Given the description of an element on the screen output the (x, y) to click on. 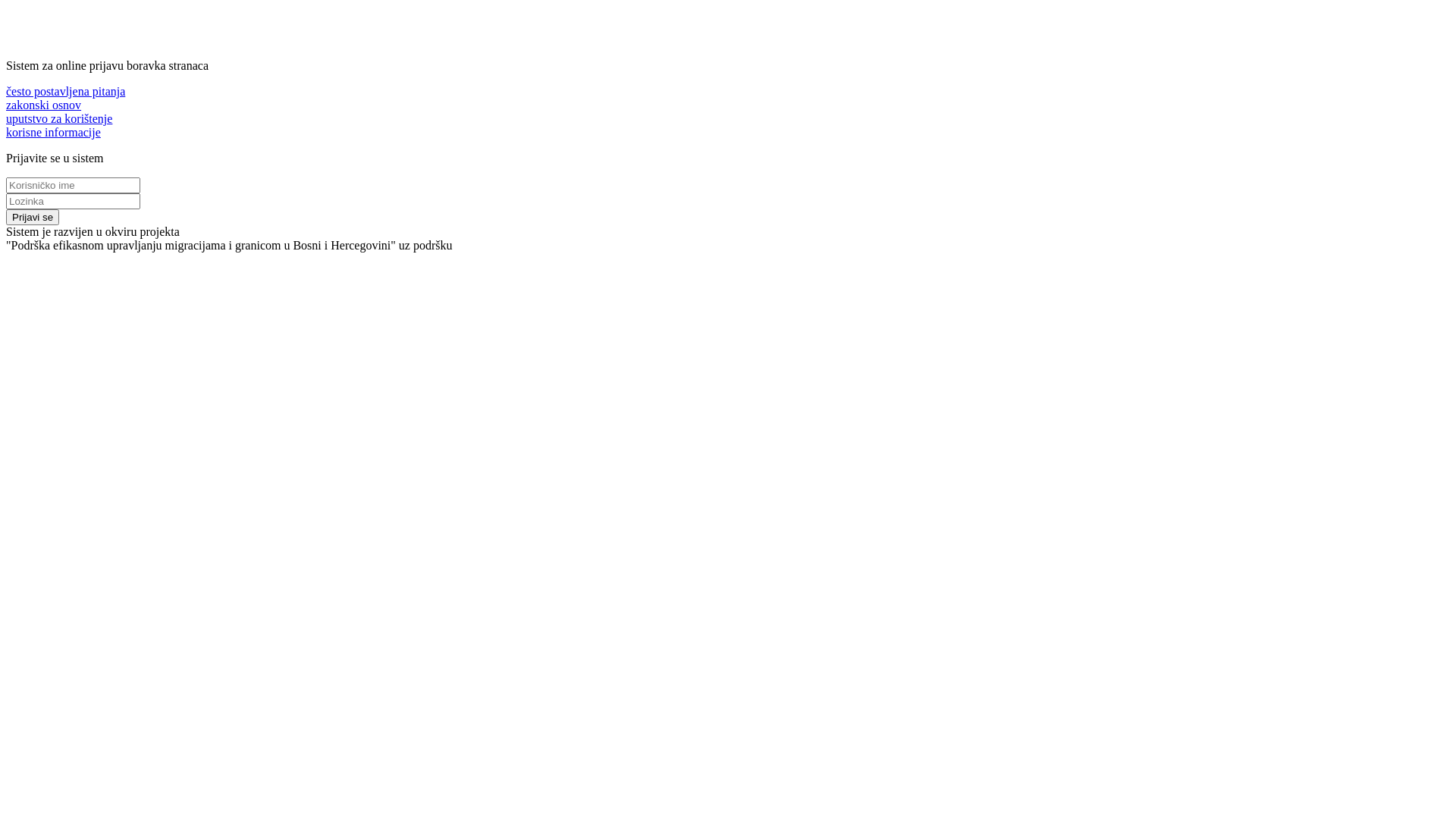
zakonski osnov Element type: text (43, 104)
korisne informacije Element type: text (53, 131)
Prijavi se Element type: text (32, 217)
